Given the description of an element on the screen output the (x, y) to click on. 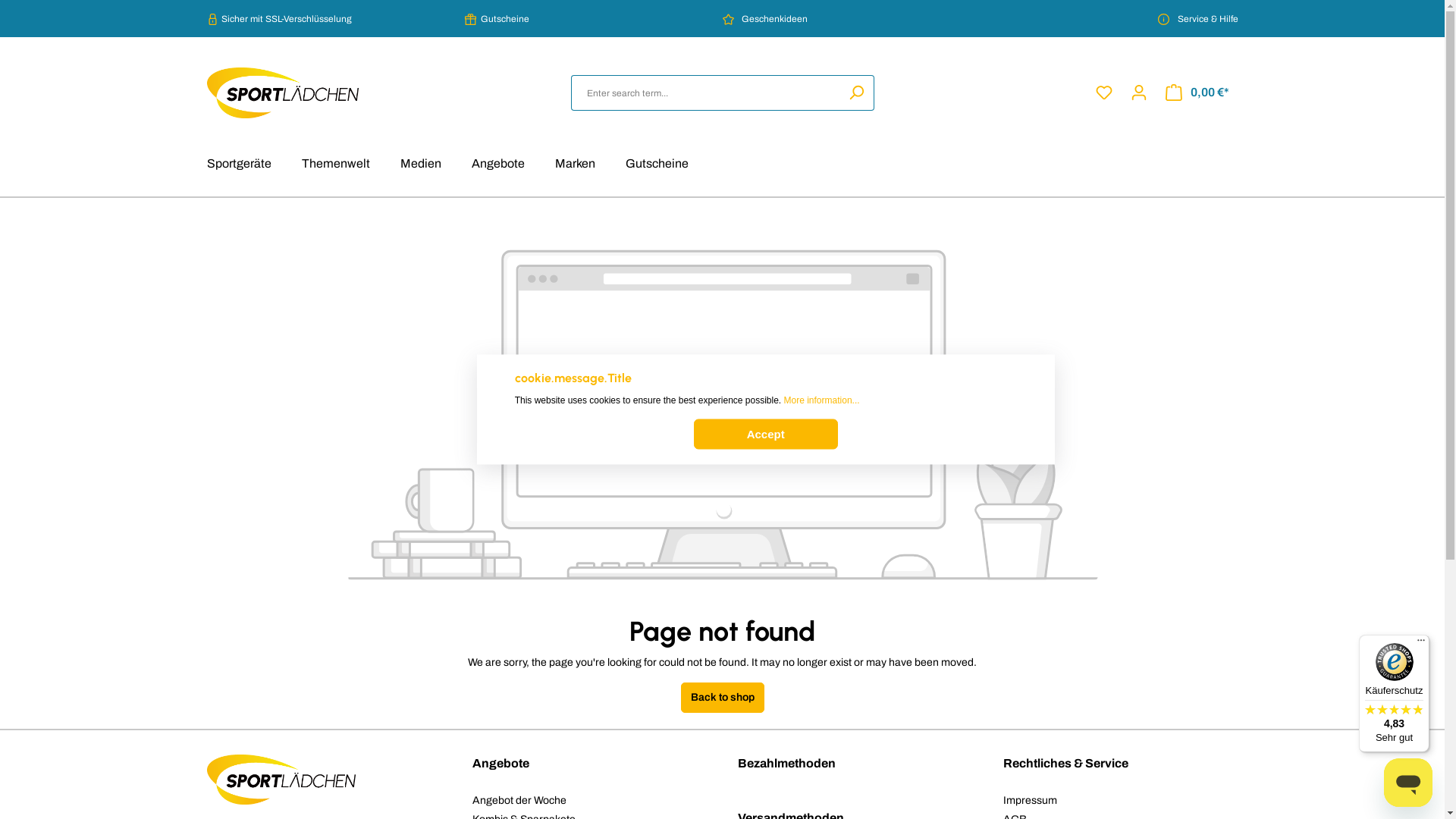
Service & Hilfe Element type: text (1108, 18)
 Gutscheine Element type: text (592, 18)
Your account Element type: hover (1137, 92)
Go to homepage Element type: hover (281, 92)
Medien Element type: text (420, 165)
Button to launch messaging window Element type: hover (1407, 782)
Gutscheine Element type: text (655, 165)
Themenwelt Element type: text (335, 165)
Impressum Element type: text (1029, 800)
Geschenkideen Element type: text (850, 18)
Wishlist Element type: hover (1102, 92)
Accept Element type: text (765, 433)
Angebote Element type: text (497, 165)
More information... Element type: text (821, 399)
Marken Element type: text (575, 165)
Angebot der Woche Element type: text (518, 800)
Back to shop Element type: text (722, 697)
